Given the description of an element on the screen output the (x, y) to click on. 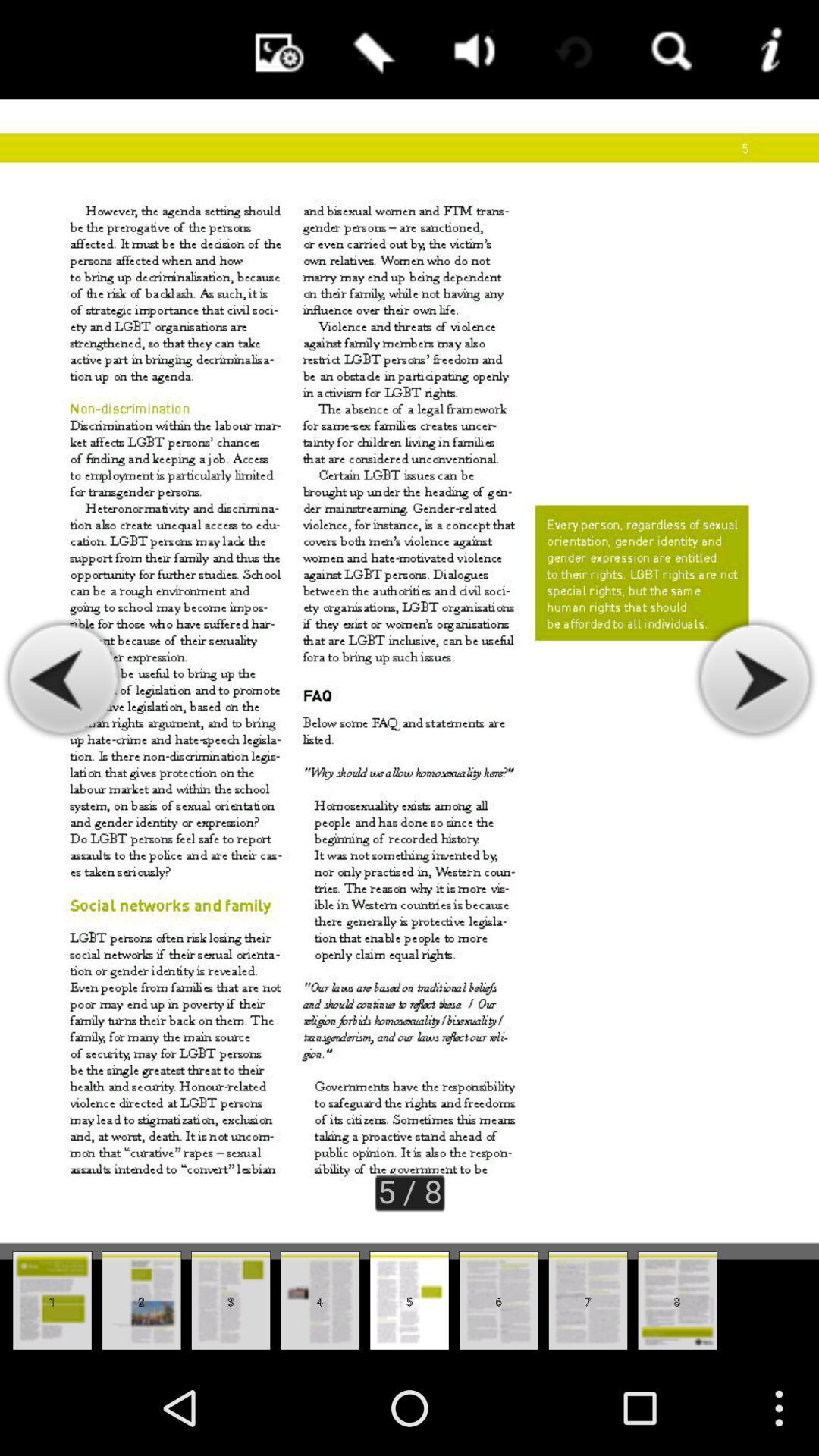
turn off the icon on the left (63, 679)
